Given the description of an element on the screen output the (x, y) to click on. 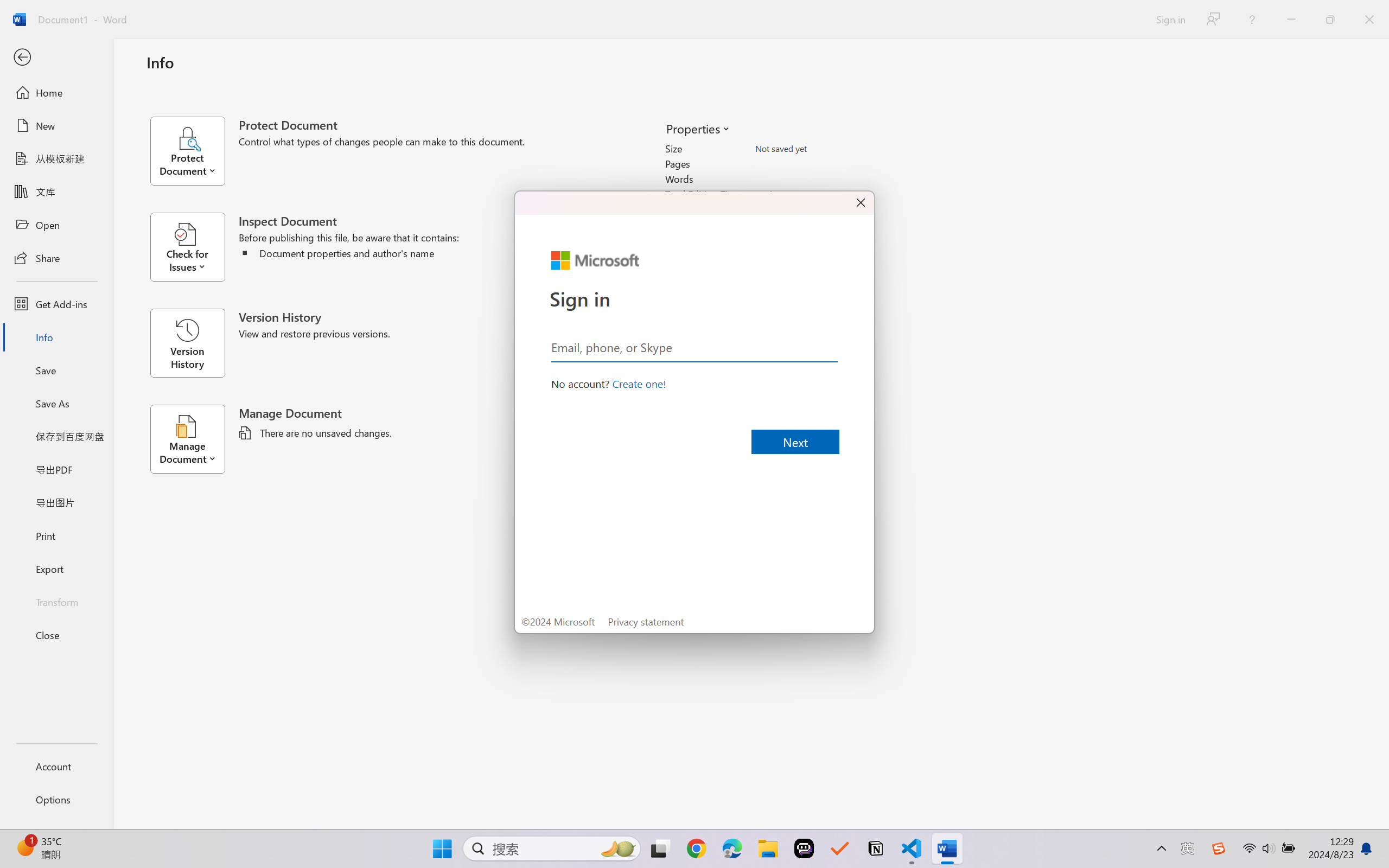
Check for Issues (194, 246)
Transform (56, 601)
Save As (56, 403)
Properties (696, 128)
Info (56, 337)
